Given the description of an element on the screen output the (x, y) to click on. 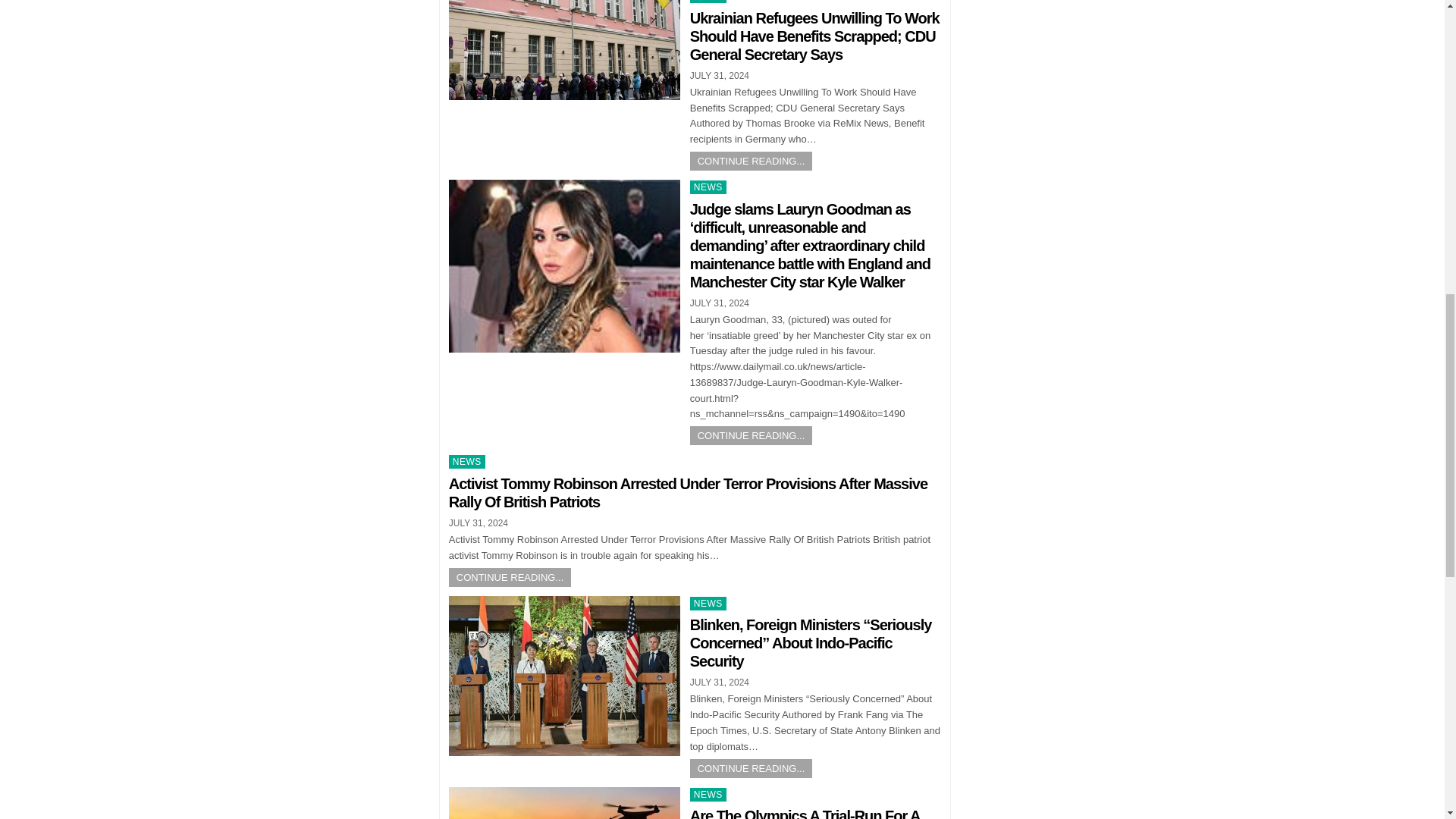
CONTINUE READING... (751, 768)
NEWS (708, 794)
CONTINUE READING... (751, 435)
CONTINUE READING... (751, 160)
NEWS (708, 187)
NEWS (708, 1)
